Given the description of an element on the screen output the (x, y) to click on. 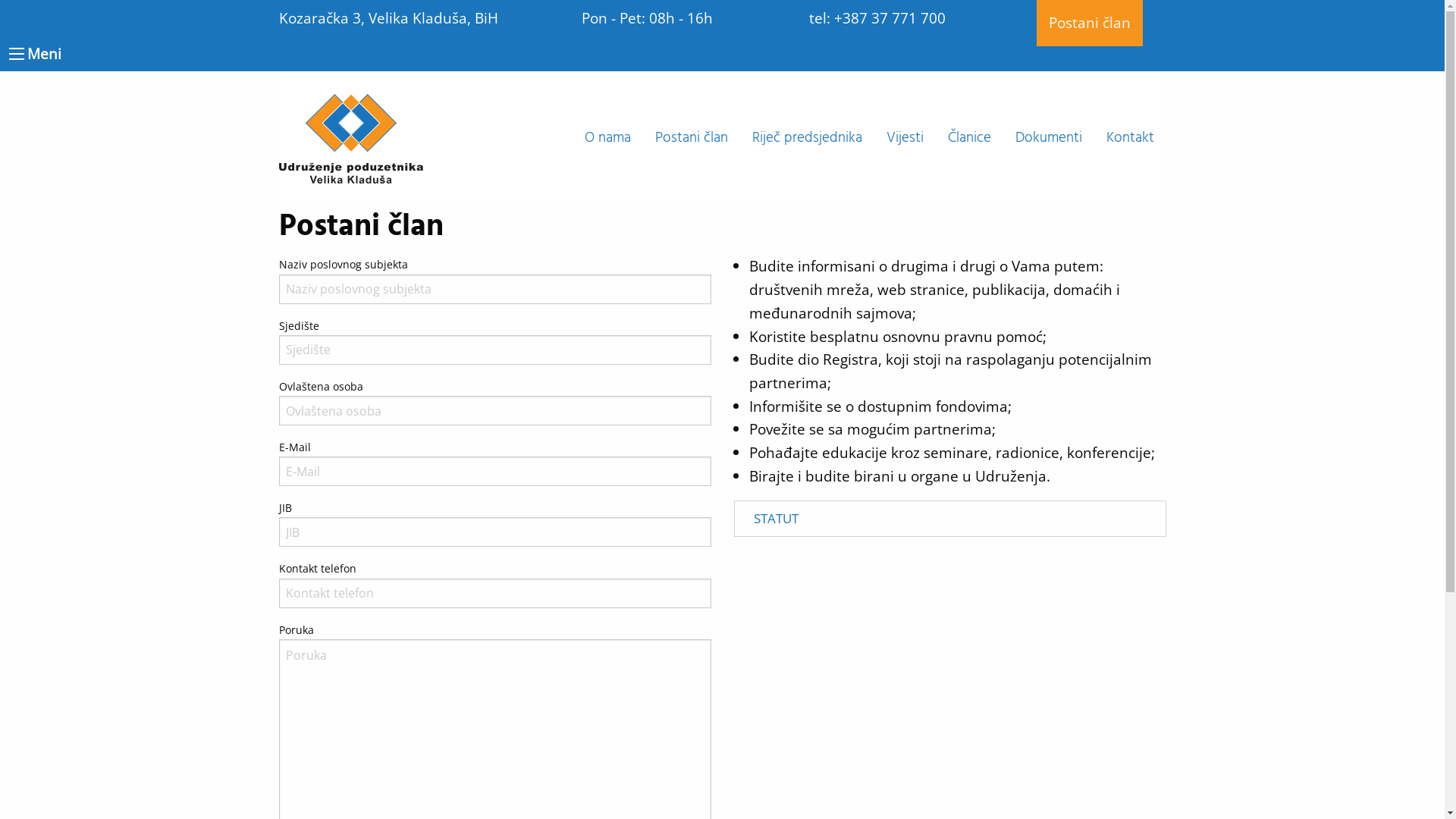
Dokumenti Element type: text (1047, 138)
Vijesti Element type: text (904, 138)
Kontakt Element type: text (1129, 138)
STATUT Element type: text (950, 518)
O nama Element type: text (606, 138)
